Given the description of an element on the screen output the (x, y) to click on. 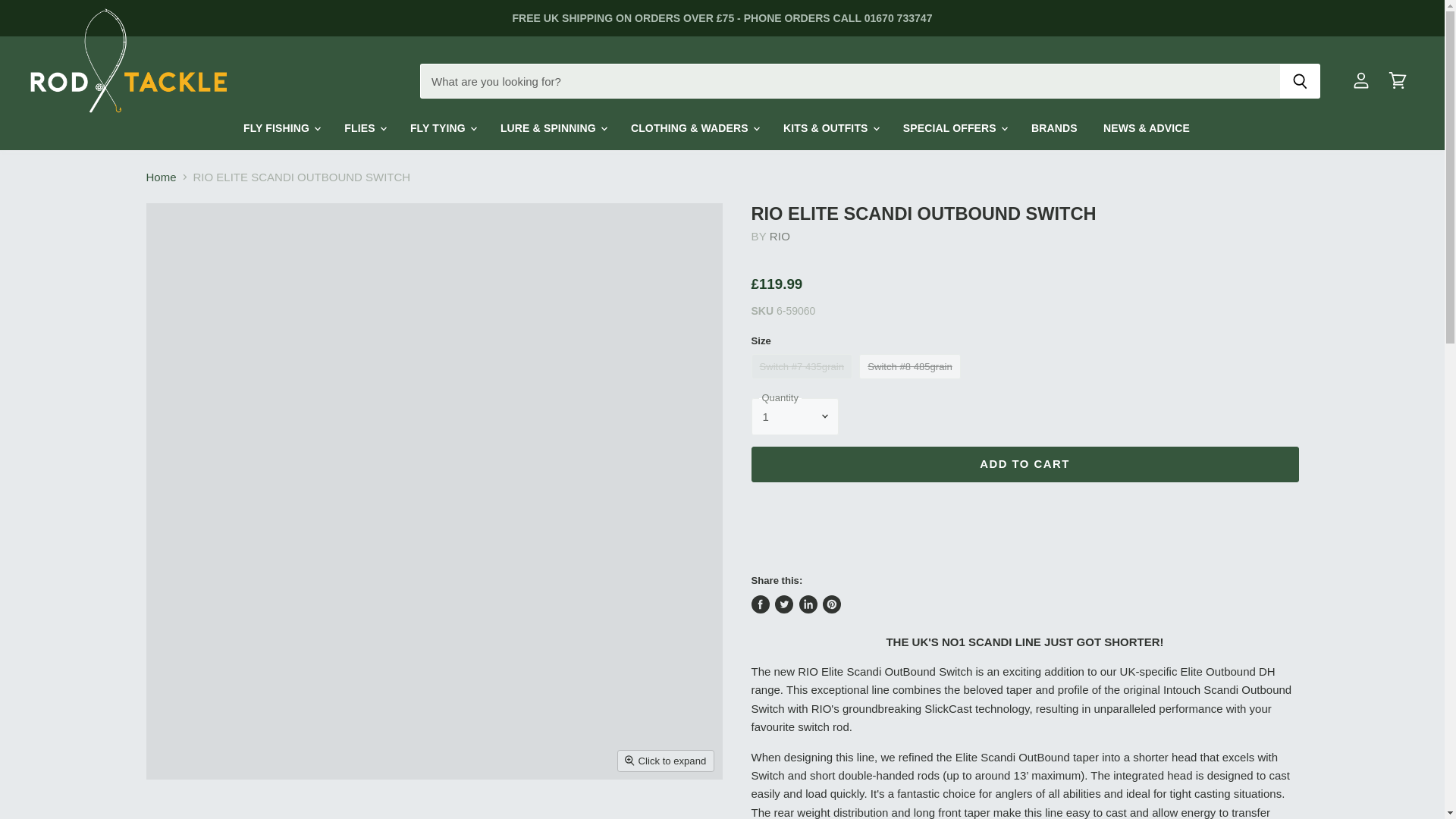
RIO (780, 236)
FLIES (363, 128)
FLY TYING (442, 128)
View cart (1397, 80)
FLY FISHING (280, 128)
